Given the description of an element on the screen output the (x, y) to click on. 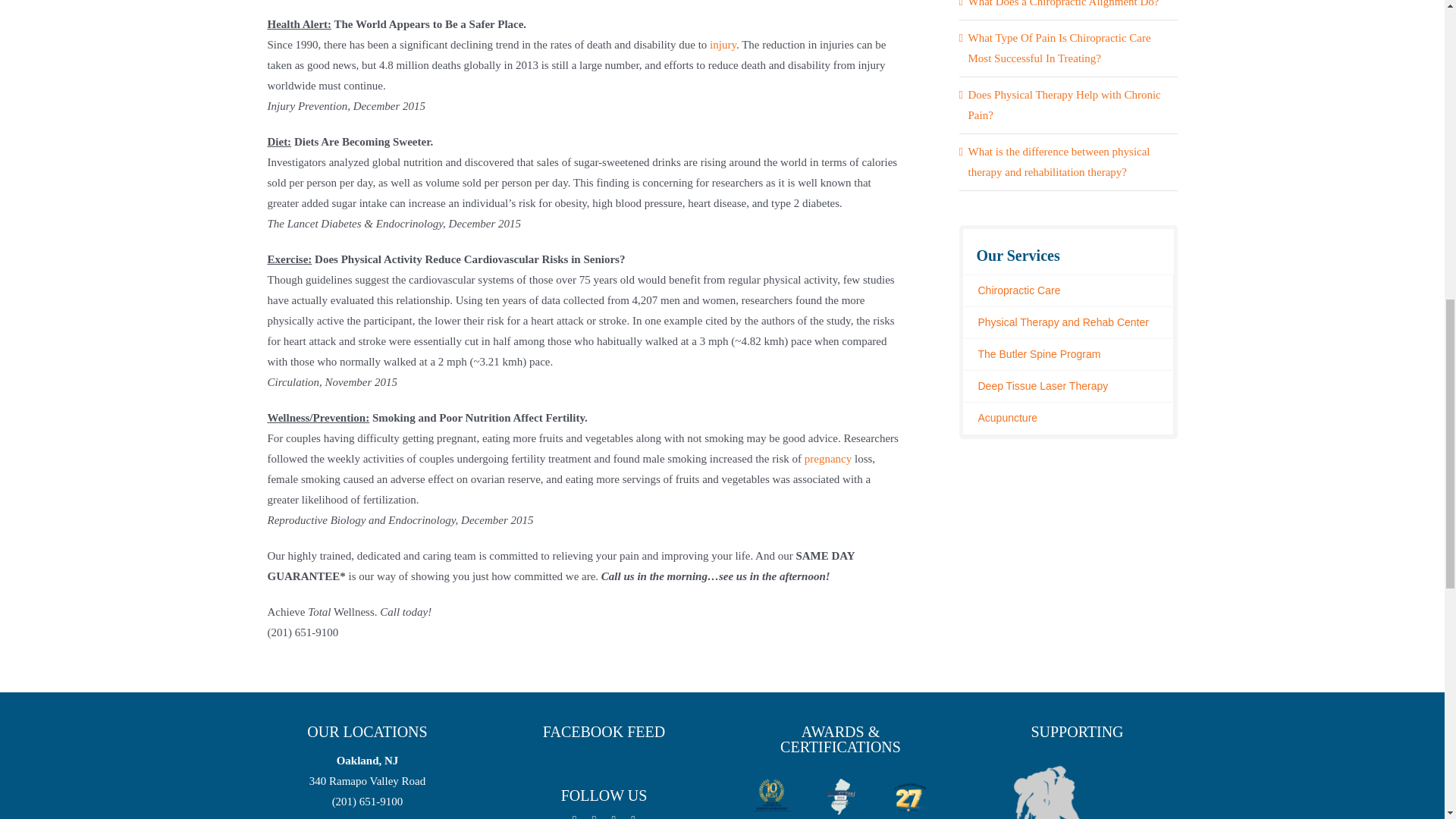
pregnancy (828, 458)
injury (723, 44)
